Given the description of an element on the screen output the (x, y) to click on. 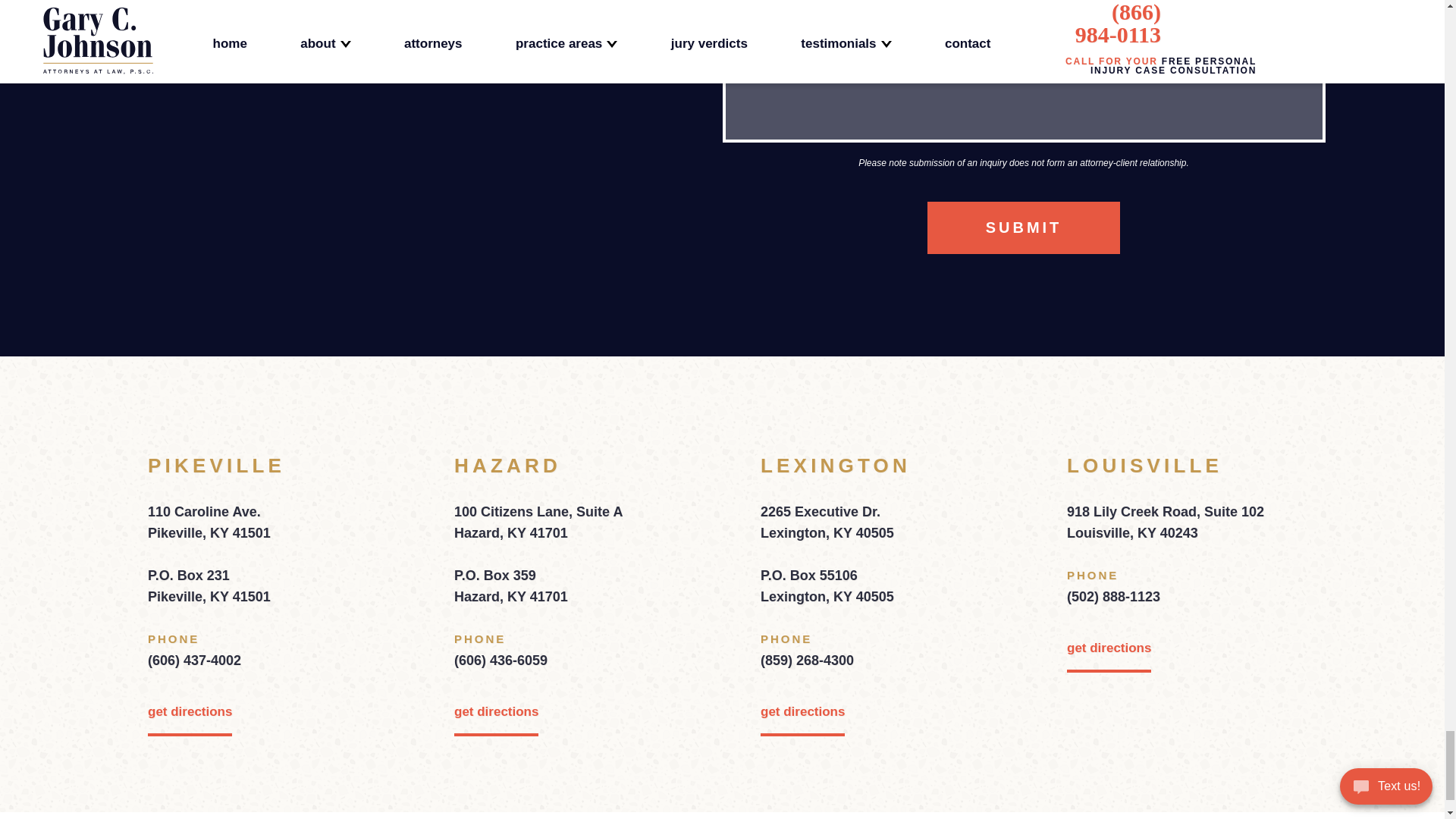
Submit (1023, 227)
